Given the description of an element on the screen output the (x, y) to click on. 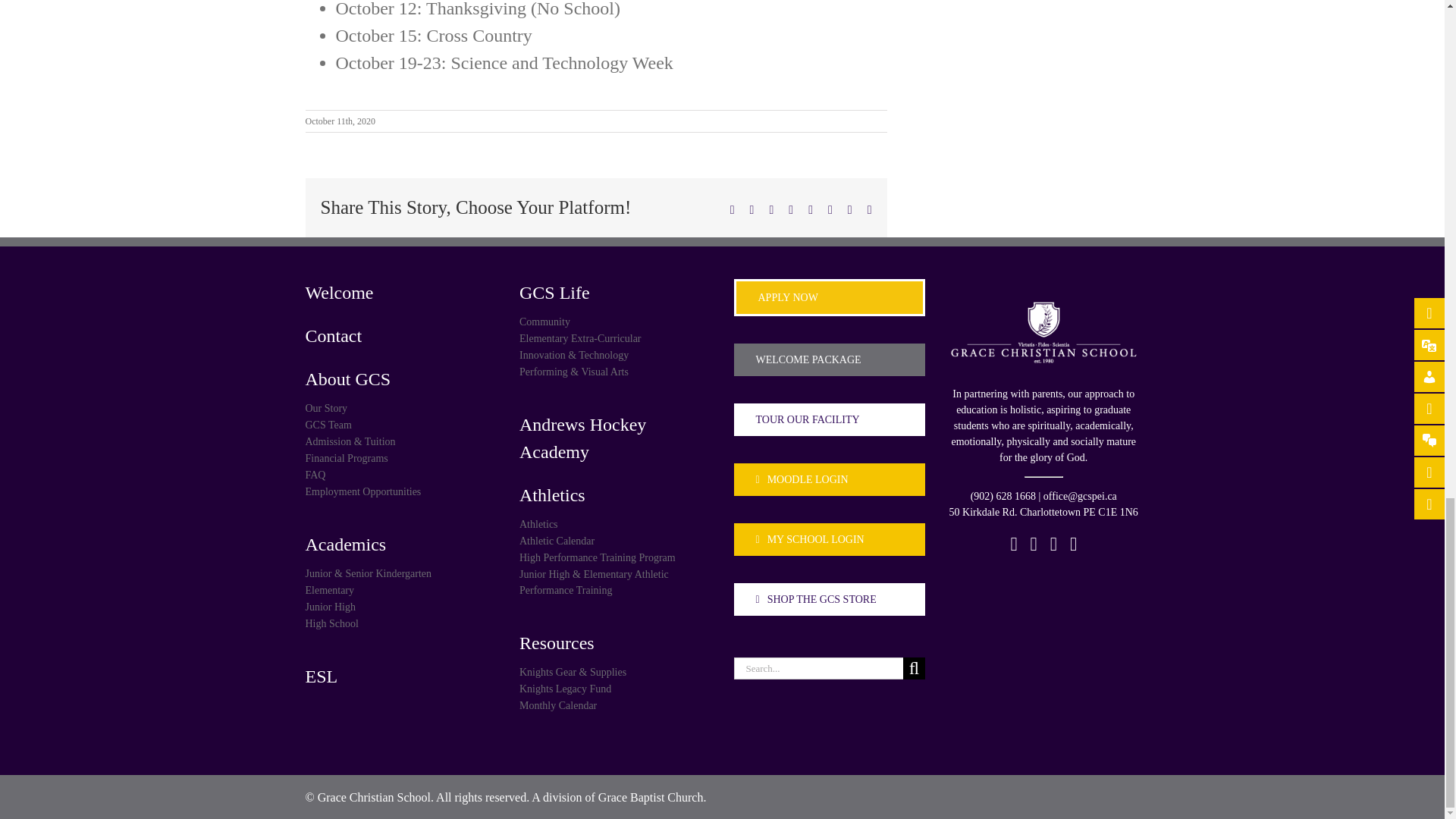
Financial Programs (400, 457)
GCS Life (615, 291)
Welcome (400, 291)
Employment Opportunities (400, 490)
FAQ (400, 474)
Resources (615, 642)
Athletics (615, 524)
Elementary Extra-Curricular (615, 337)
Knights Legacy Fund (615, 688)
GCS Team (400, 424)
Contact (400, 335)
High Performance Training Program (615, 557)
Elementary (400, 589)
Athletics (615, 494)
High School (400, 622)
